Given the description of an element on the screen output the (x, y) to click on. 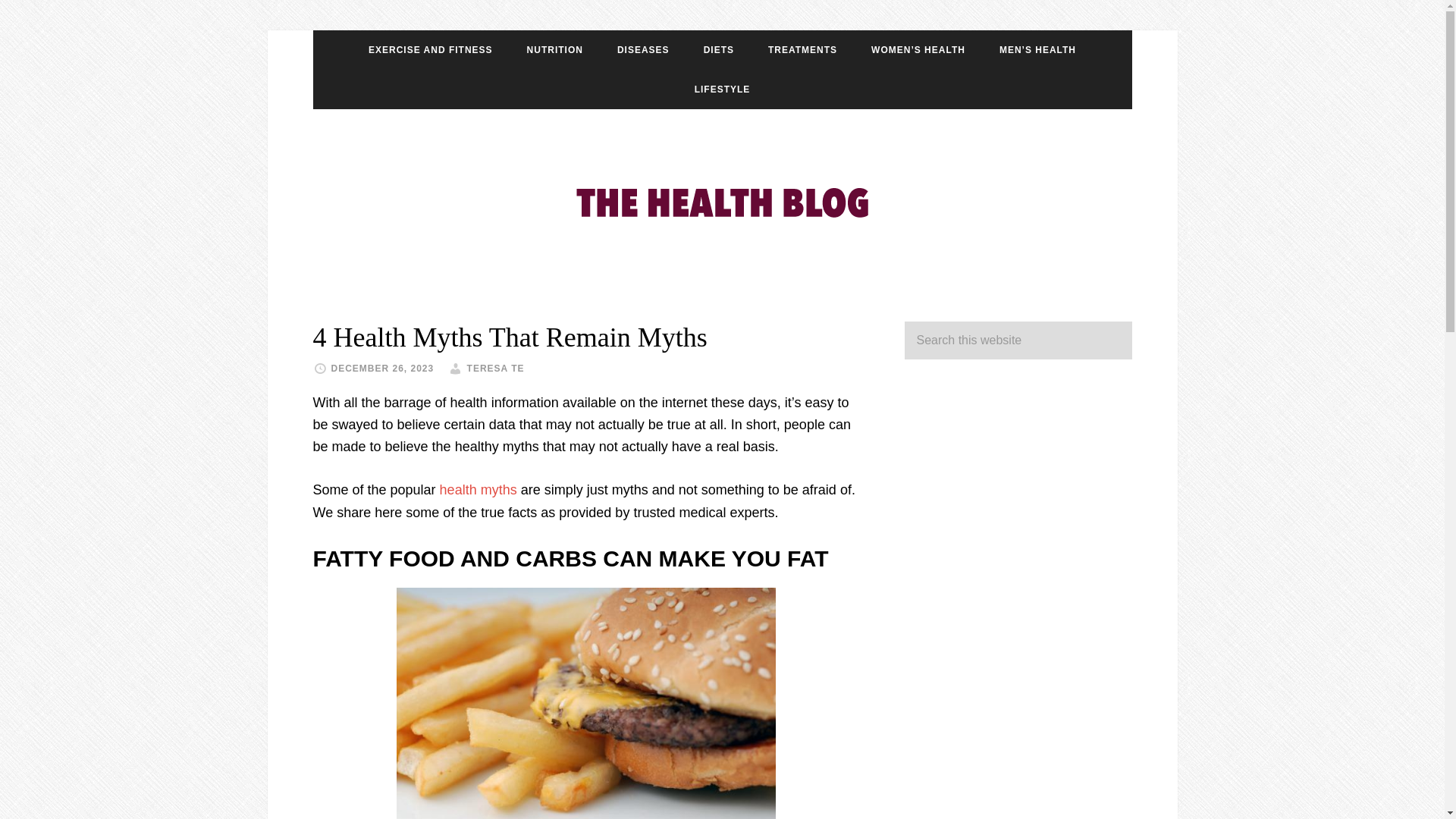
NUTRITION (555, 49)
DISEASES (643, 49)
HEALTH BLOG (721, 199)
LIFESTYLE (722, 88)
4 Health Myths That Remain Myths (509, 337)
EXERCISE AND FITNESS (430, 49)
DIETS (718, 49)
